Given the description of an element on the screen output the (x, y) to click on. 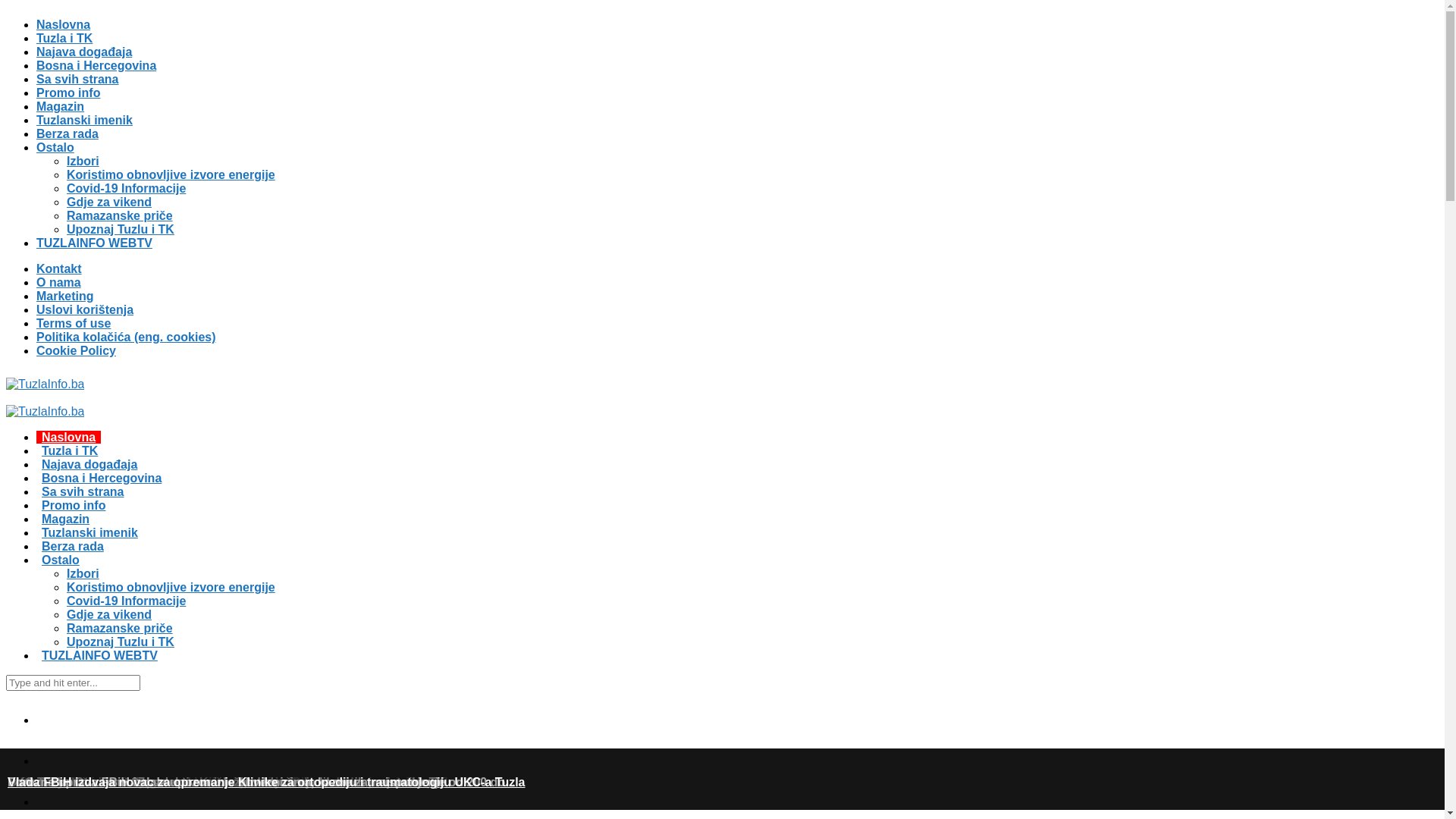
Bosna i Hercegovina Element type: text (96, 65)
Terms of use Element type: text (73, 322)
Covid-19 Informacije Element type: text (125, 600)
Koristimo obnovljive izvore energije Element type: text (170, 174)
Promo info Element type: text (68, 92)
Upoznaj Tuzlu i TK Element type: text (120, 641)
Izbori Element type: text (82, 573)
Ostalo Element type: text (60, 559)
Upoznaj Tuzlu i TK Element type: text (120, 228)
Gdje za vikend Element type: text (108, 201)
Bosna i Hercegovina Element type: text (101, 477)
Tuzlanski imenik Element type: text (84, 119)
Koristimo obnovljive izvore energije Element type: text (170, 586)
Kontakt Element type: text (58, 268)
Tuzla i TK Element type: text (69, 450)
Magazin Element type: text (60, 106)
Naslovna Element type: text (63, 24)
Berza rada Element type: text (72, 545)
Berza rada Element type: text (67, 133)
Tuzlanski imenik Element type: text (89, 532)
Ostalo Element type: text (55, 147)
Gdje za vikend Element type: text (108, 614)
Covid-19 Informacije Element type: text (125, 188)
Sa svih strana Element type: text (82, 491)
Sa svih strana Element type: text (77, 78)
Promo info Element type: text (73, 504)
Marketing Element type: text (65, 295)
Magazin Element type: text (65, 518)
Izbori Element type: text (82, 160)
Cookie Policy Element type: text (76, 350)
TUZLAINFO WEBTV Element type: text (94, 242)
TUZLAINFO WEBTV Element type: text (99, 655)
Tuzla i TK Element type: text (64, 37)
O nama Element type: text (58, 282)
Naslovna Element type: text (68, 436)
